Given the description of an element on the screen output the (x, y) to click on. 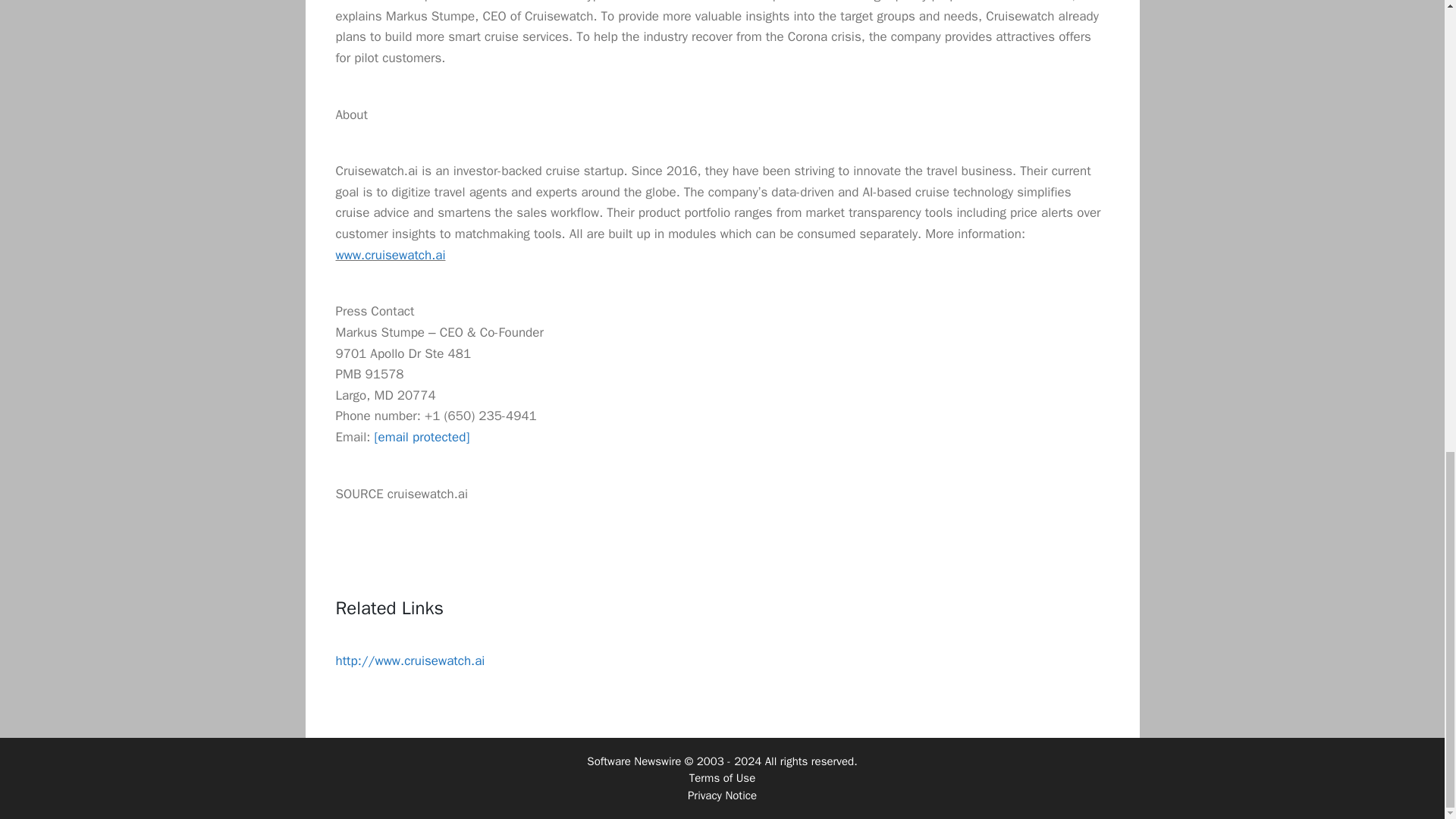
Privacy Notice (722, 795)
Terms of Use (721, 777)
www.cruisewatch.ai (389, 254)
